Given the description of an element on the screen output the (x, y) to click on. 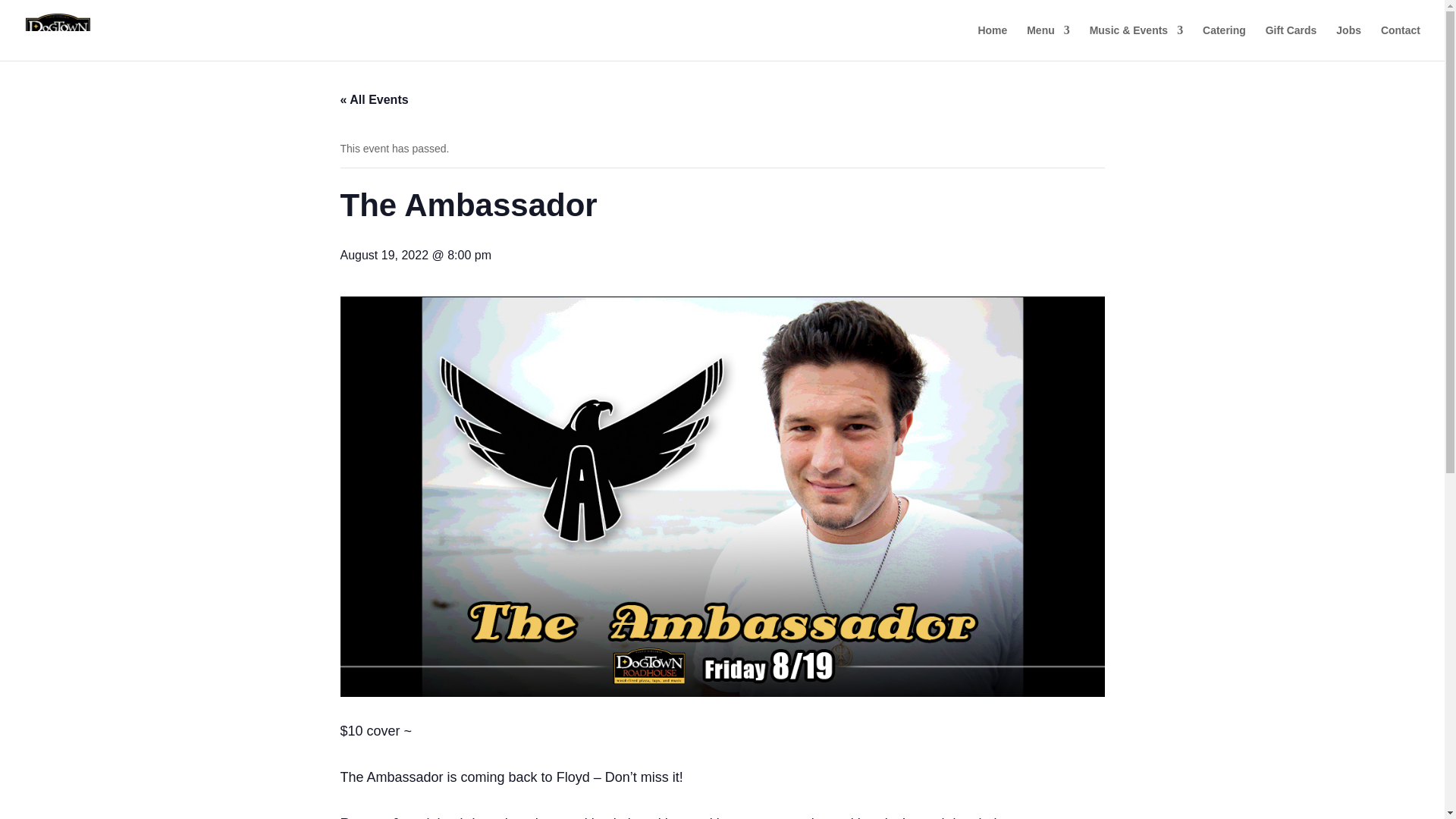
Contact (1400, 42)
Catering (1224, 42)
Menu (1048, 42)
Gift Cards (1291, 42)
